Given the description of an element on the screen output the (x, y) to click on. 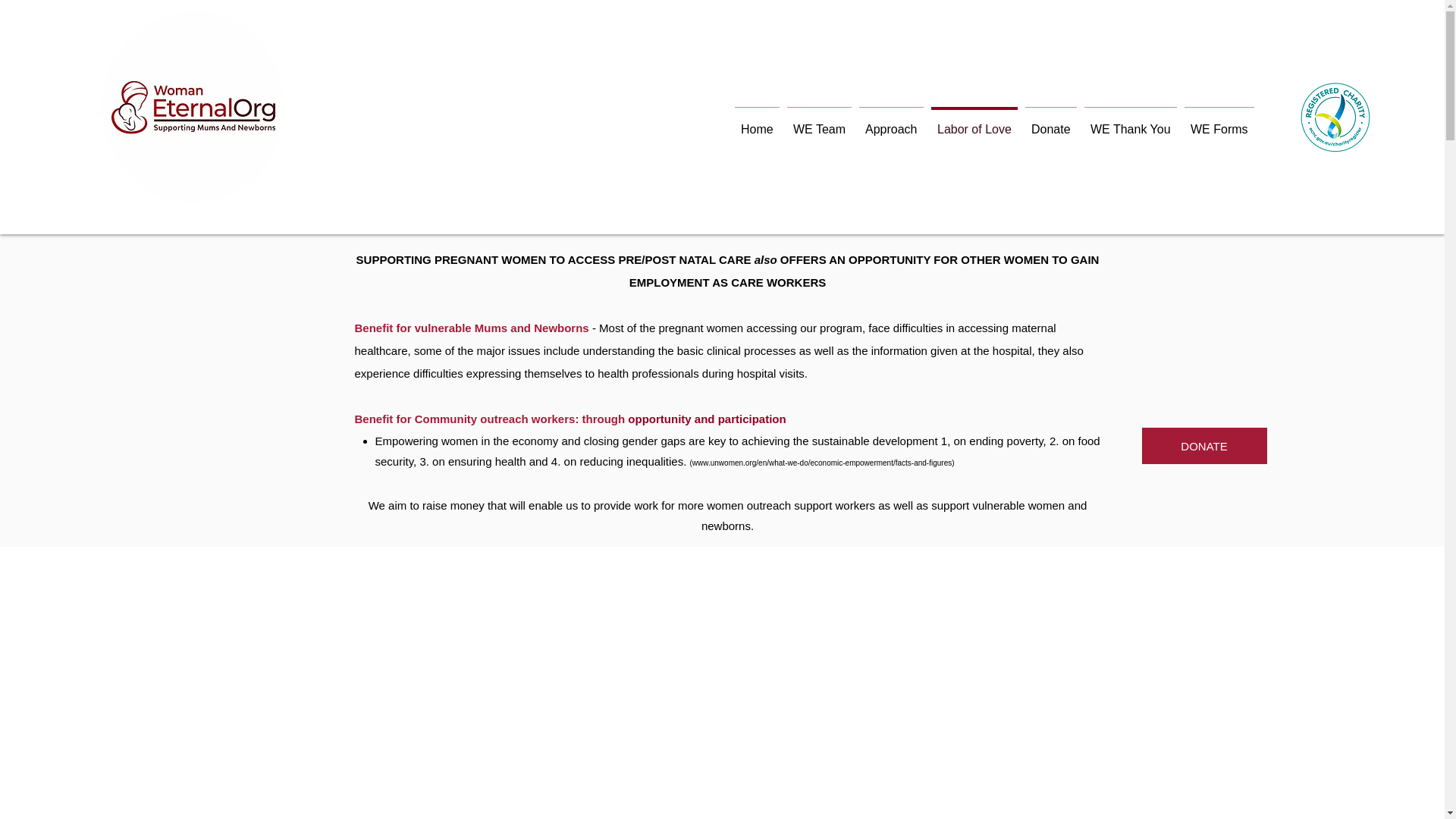
DONATE Element type: text (1204, 445)
Labor of Love Element type: text (974, 122)
Donate Element type: text (1050, 122)
WE Team Element type: text (819, 122)
WE Forms Element type: text (1219, 122)
Approach Element type: text (891, 122)
WE Thank You Element type: text (1130, 122)
Home Element type: text (757, 122)
